Given the description of an element on the screen output the (x, y) to click on. 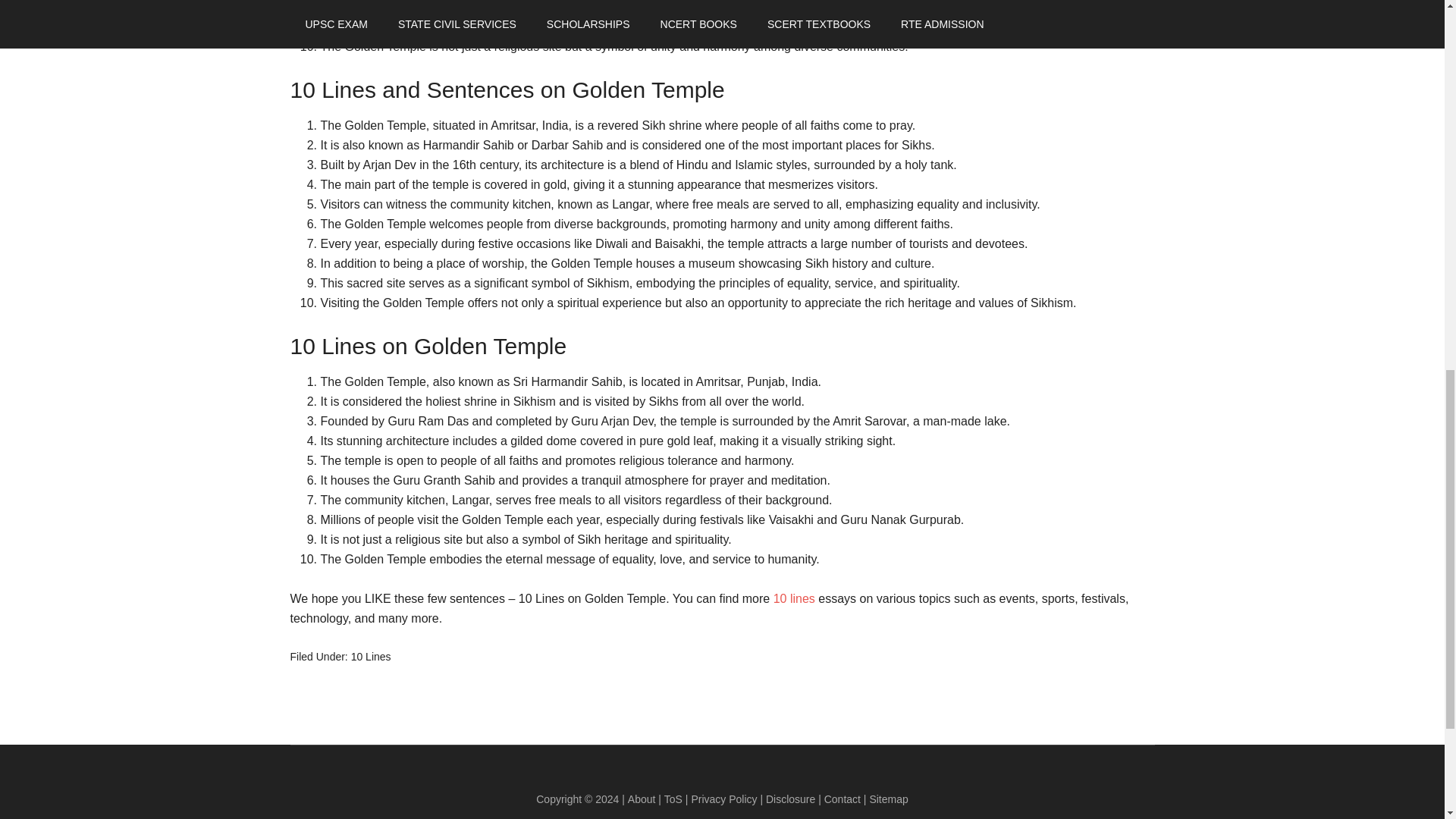
ToS (672, 799)
Disclosure (791, 799)
10 Lines (370, 656)
10 lines (794, 598)
About (641, 799)
Privacy Policy (723, 799)
Contact (843, 799)
Sitemap (888, 799)
